Given the description of an element on the screen output the (x, y) to click on. 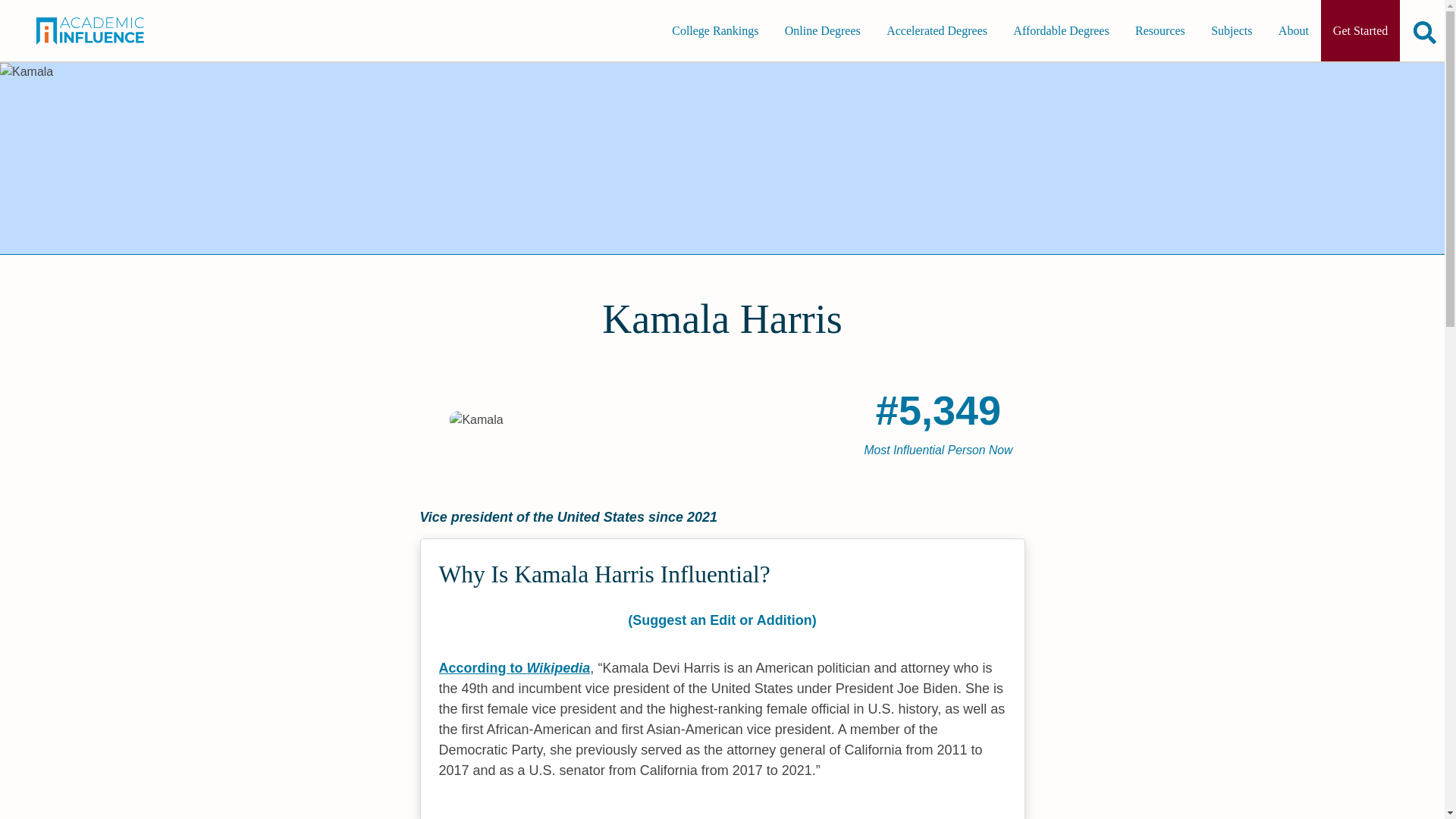
Online Degrees (822, 30)
Affordable Degrees (1061, 30)
Accelerated Degrees (936, 30)
Get Started (1359, 30)
Subjects (1230, 30)
According to Wikipedia (513, 667)
Resources (1159, 30)
College Rankings (714, 30)
About (1293, 30)
